Given the description of an element on the screen output the (x, y) to click on. 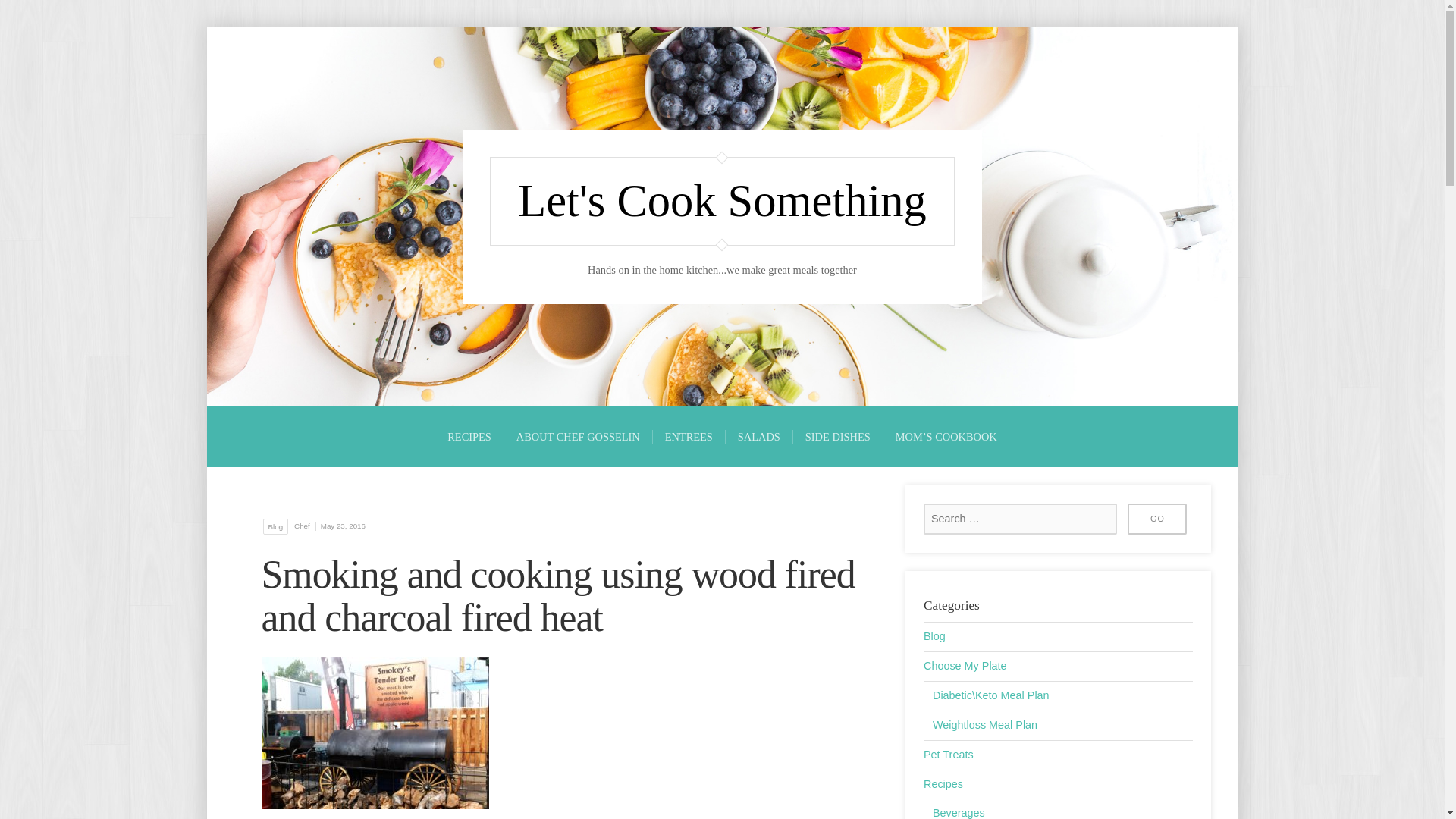
Blog (933, 635)
SALADS (758, 436)
May 23, 2016 (341, 525)
Posts by Chef (302, 525)
12:43 pm (341, 525)
ABOUT CHEF GOSSELIN (577, 436)
ENTREES (688, 436)
Let's Cook Something (722, 201)
Weightloss Meal Plan (984, 725)
Recipes (942, 784)
RECIPES (469, 436)
SIDE DISHES (837, 436)
Go (1156, 518)
Blog (275, 526)
Beverages (959, 812)
